Given the description of an element on the screen output the (x, y) to click on. 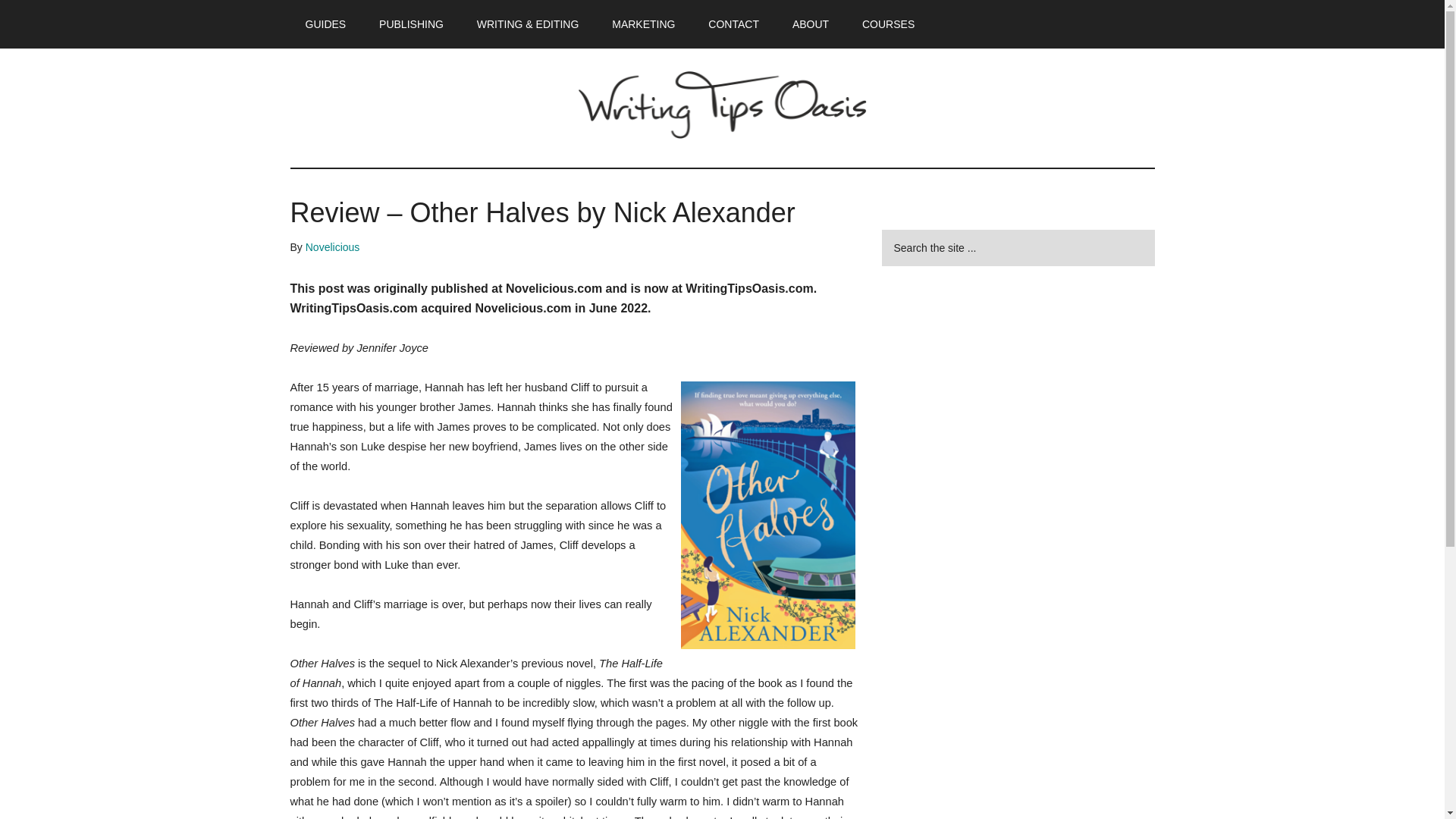
ABOUT (810, 24)
Novelicious (332, 246)
COURSES (888, 24)
PUBLISHING (411, 24)
GUIDES (325, 24)
MARKETING (643, 24)
